Given the description of an element on the screen output the (x, y) to click on. 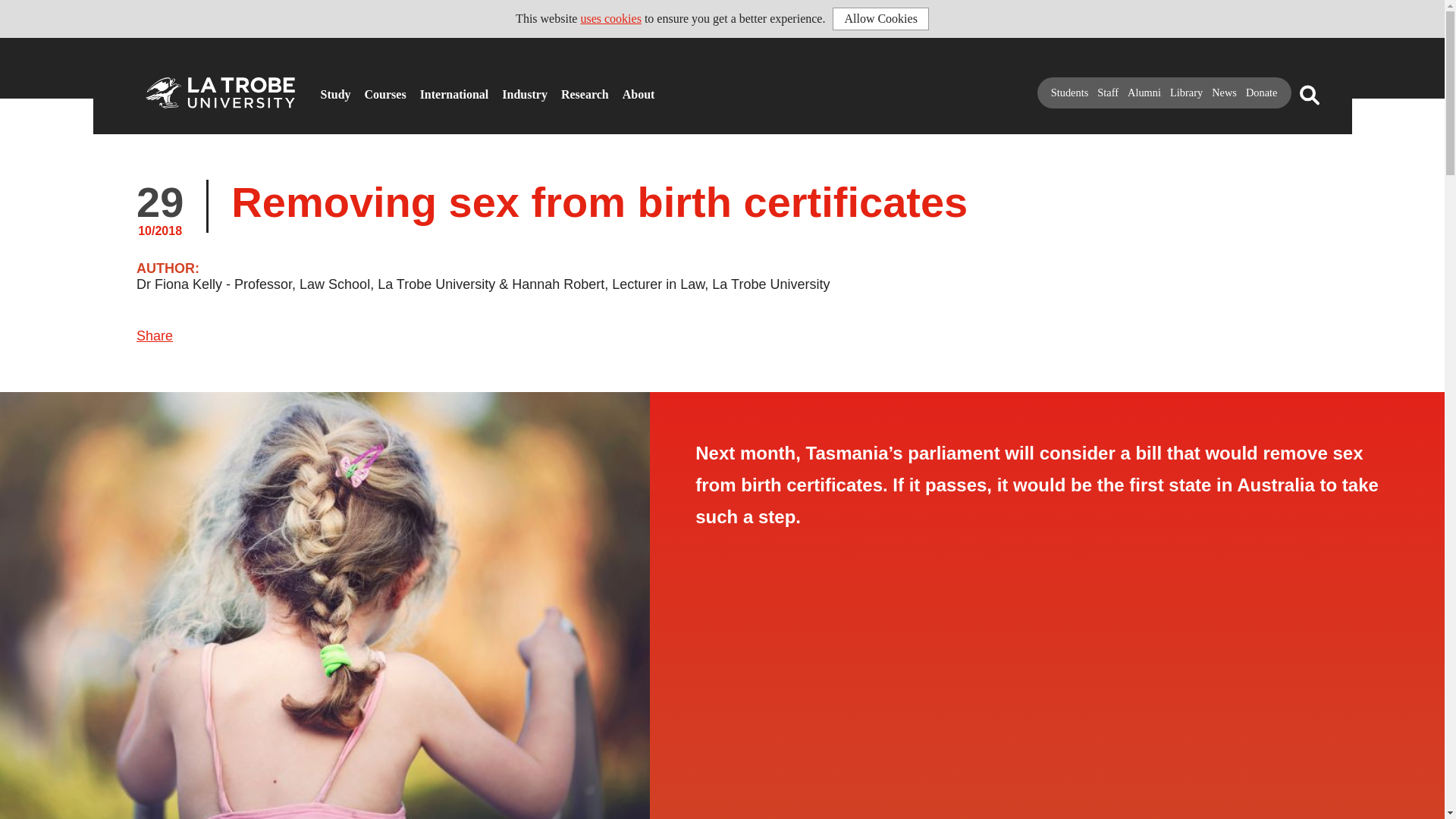
Donate (1262, 92)
Allow Cookies (880, 18)
Alumni (1143, 92)
News (1223, 92)
Study with us (325, 88)
About (627, 88)
Industry and Community (507, 88)
Courses (369, 88)
International students (424, 88)
Study with us (325, 88)
